Given the description of an element on the screen output the (x, y) to click on. 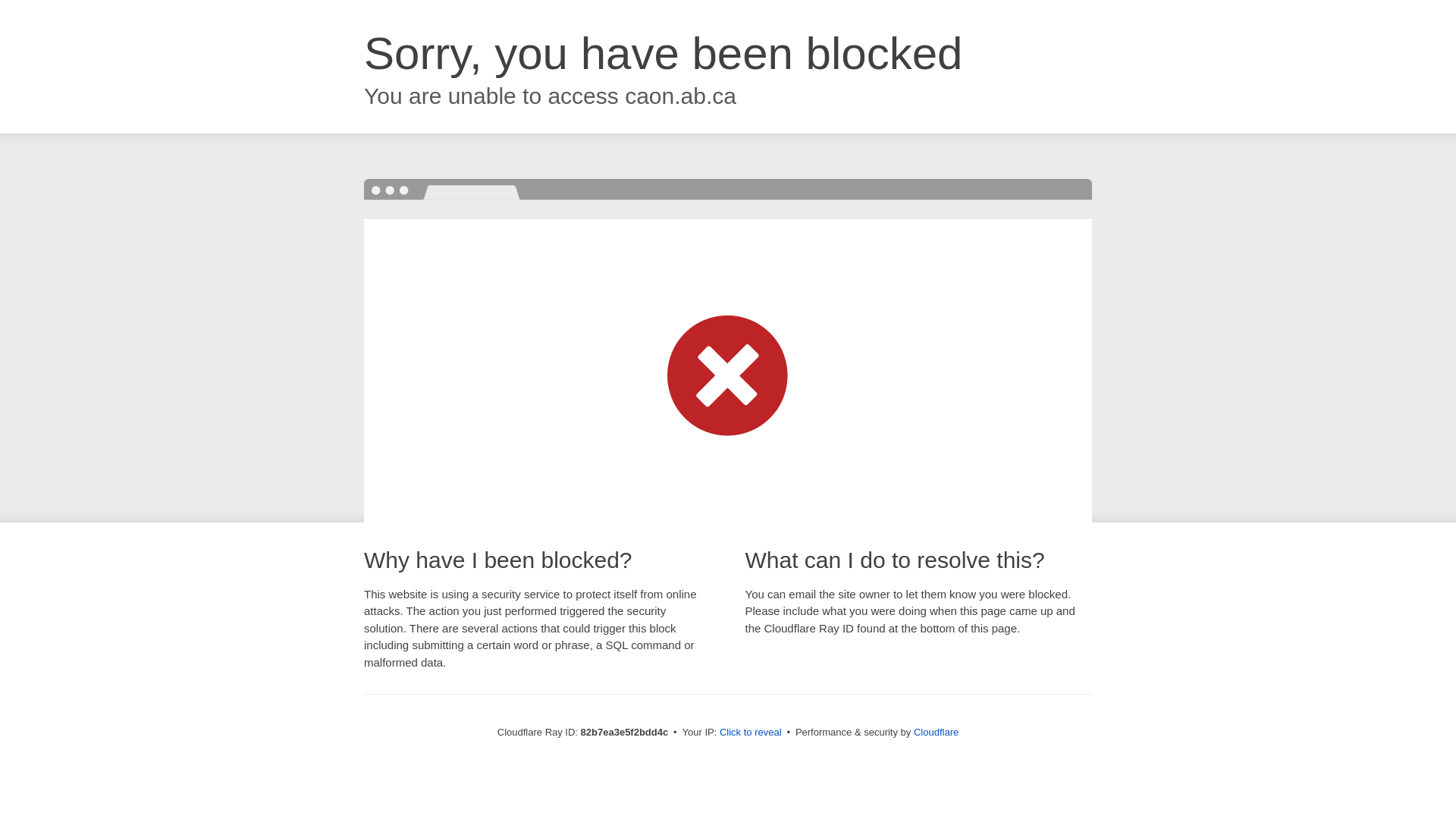
Cloudflare Element type: text (935, 731)
Click to reveal Element type: text (750, 732)
